Given the description of an element on the screen output the (x, y) to click on. 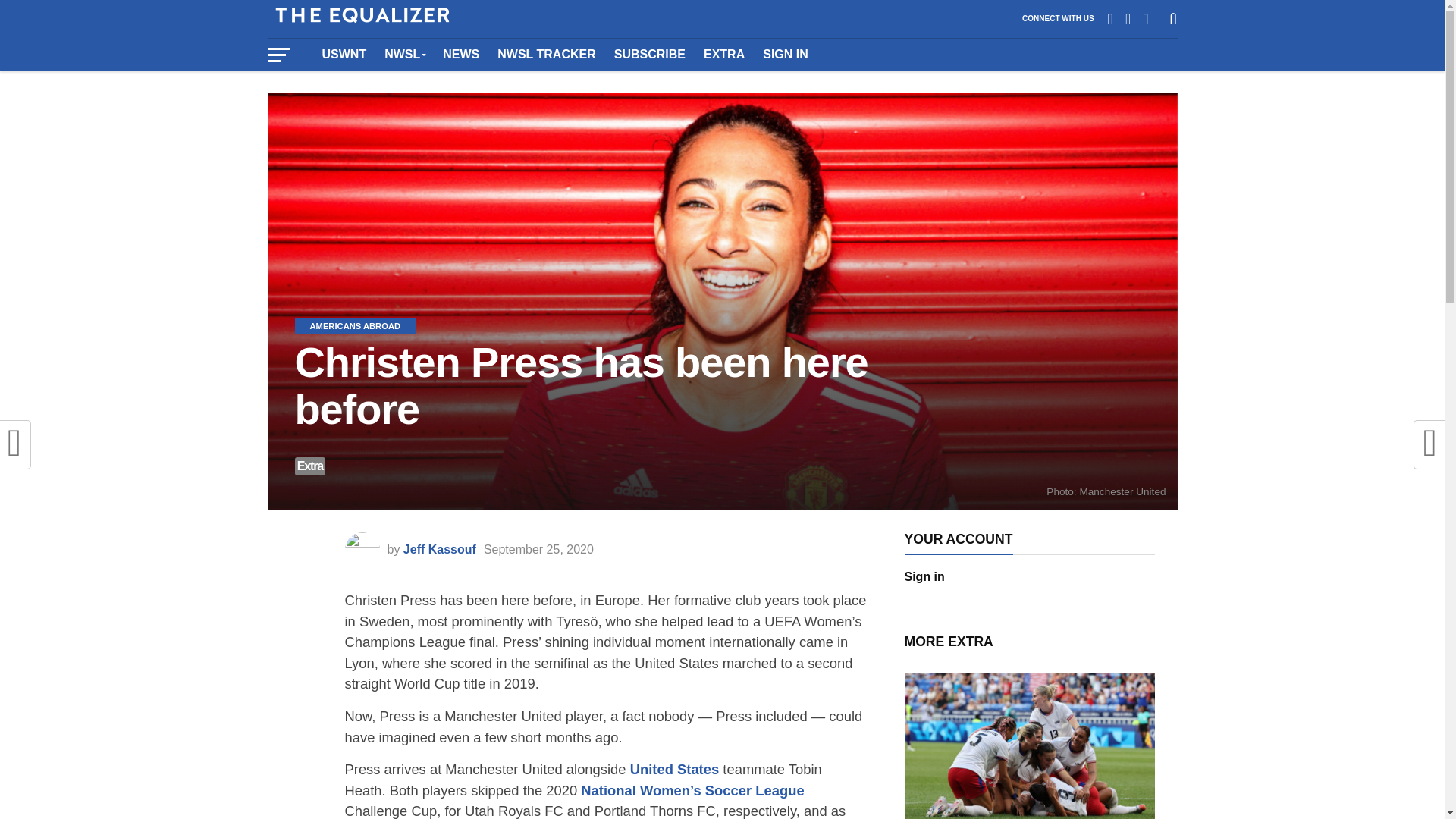
USWNT (344, 54)
Posts by Jeff Kassouf (439, 549)
NWSL (404, 54)
